Given the description of an element on the screen output the (x, y) to click on. 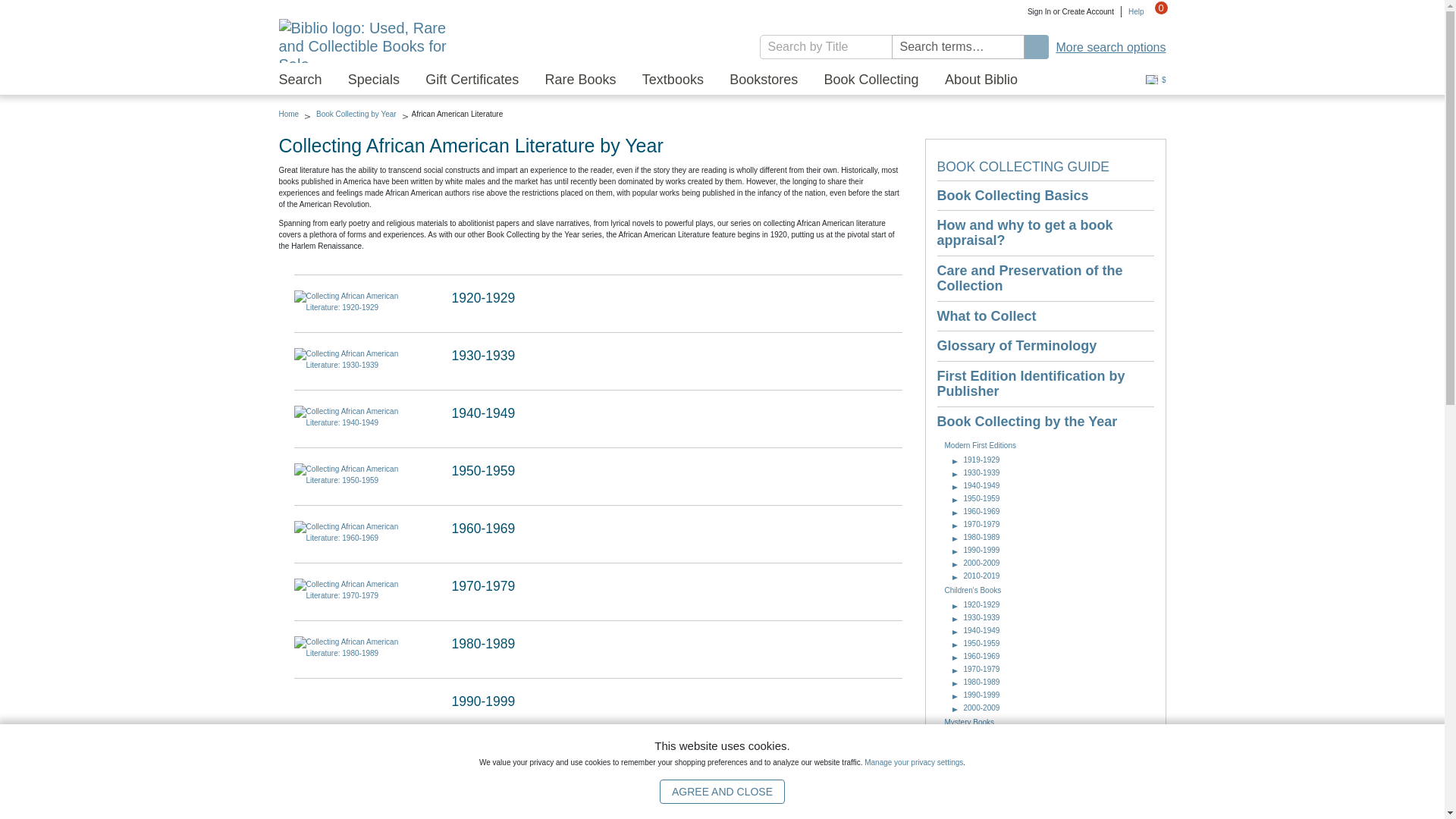
More search options (1111, 47)
Sign In or Create Account (1070, 11)
Specials (372, 80)
Help (1132, 11)
Book Collecting (871, 80)
Bookstores (763, 80)
Search (300, 80)
View items in your cart (1155, 17)
AGREE AND CLOSE (721, 791)
About Biblio (980, 80)
